Given the description of an element on the screen output the (x, y) to click on. 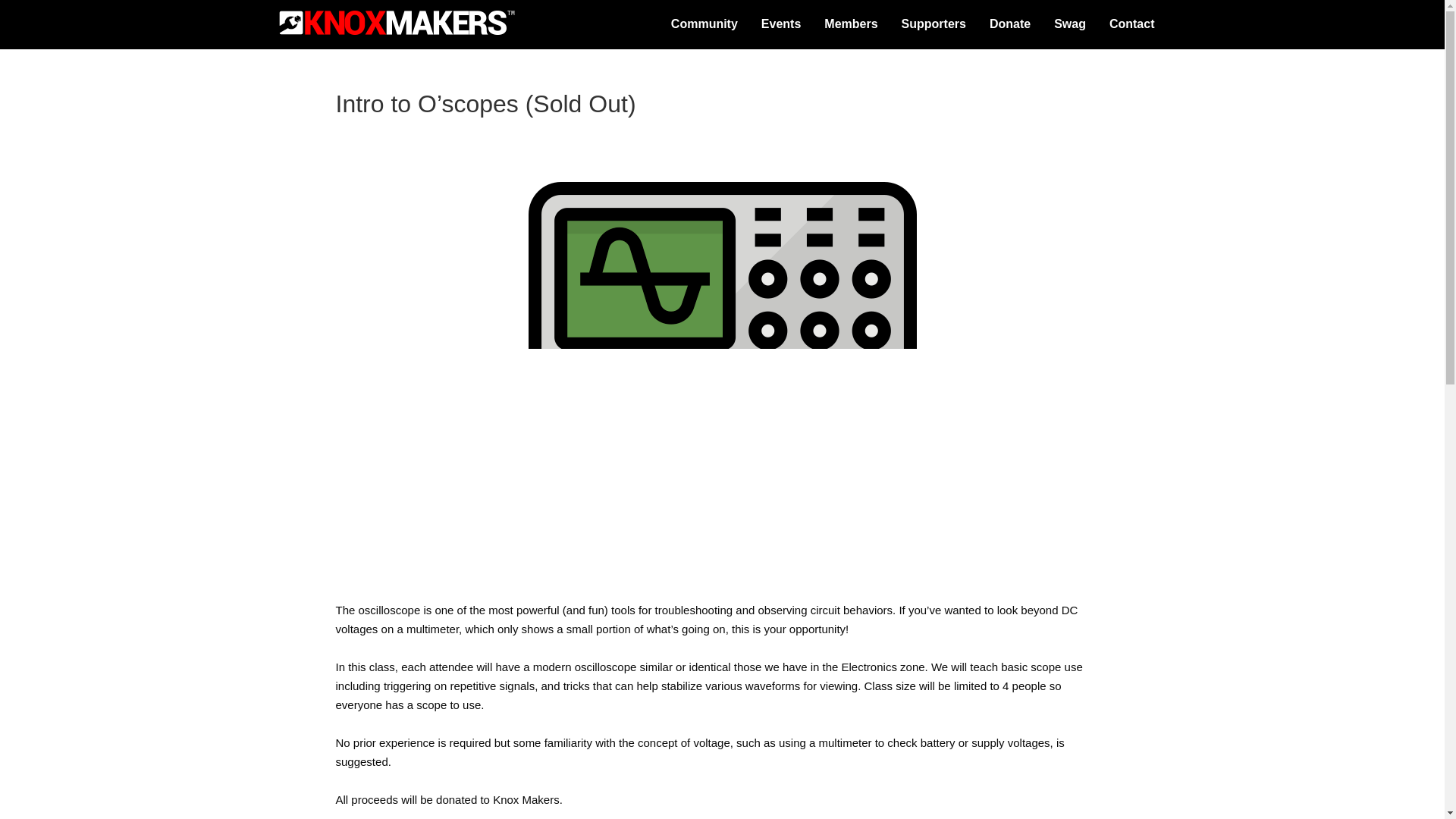
Members (850, 24)
Supporters (932, 24)
Community (704, 24)
Events (780, 24)
Swag (1069, 24)
Donate (1010, 24)
Contact (1131, 24)
